Given the description of an element on the screen output the (x, y) to click on. 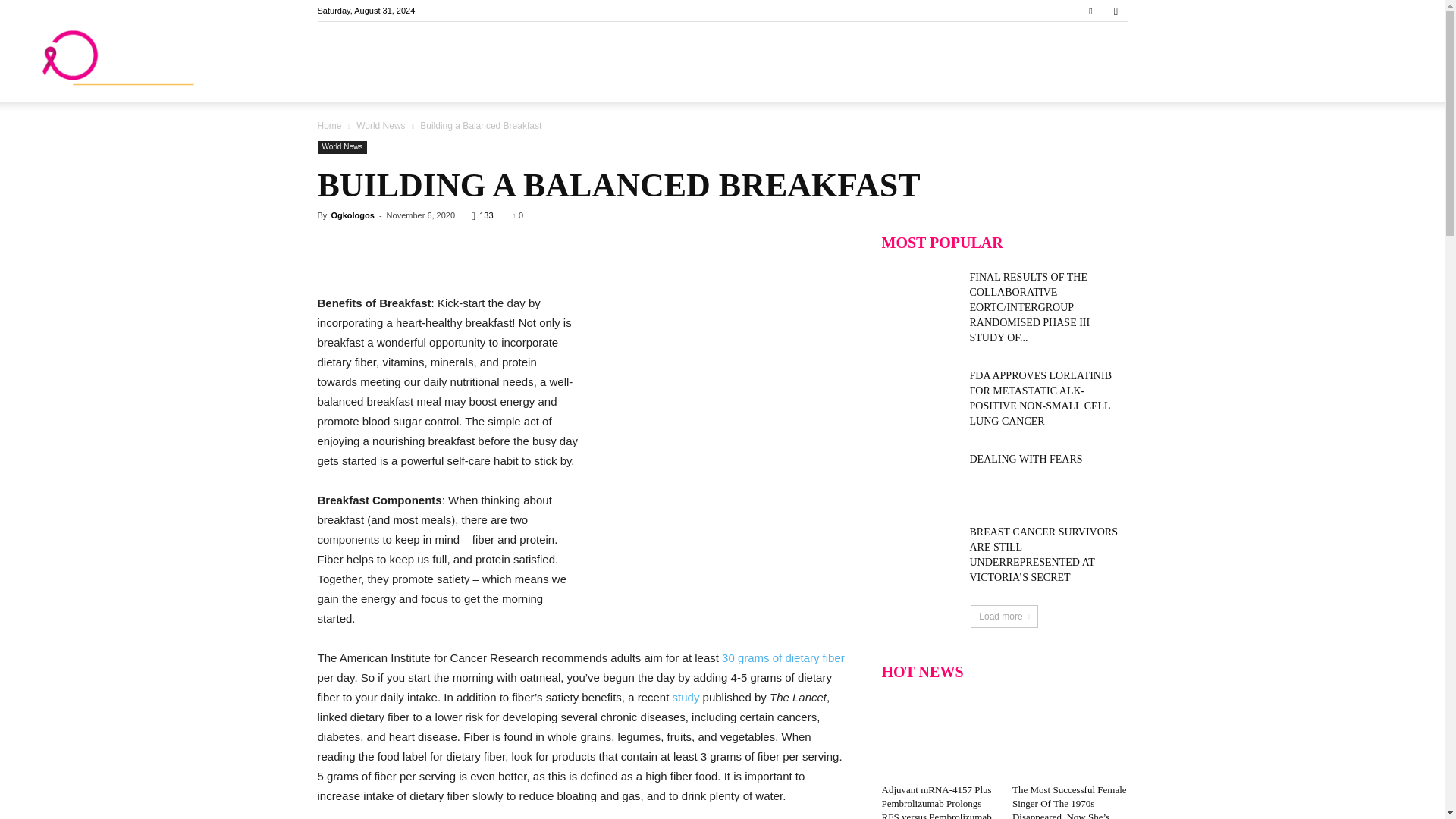
Instagram (1114, 10)
View all posts in World News (380, 125)
Facebook (1090, 10)
